Given the description of an element on the screen output the (x, y) to click on. 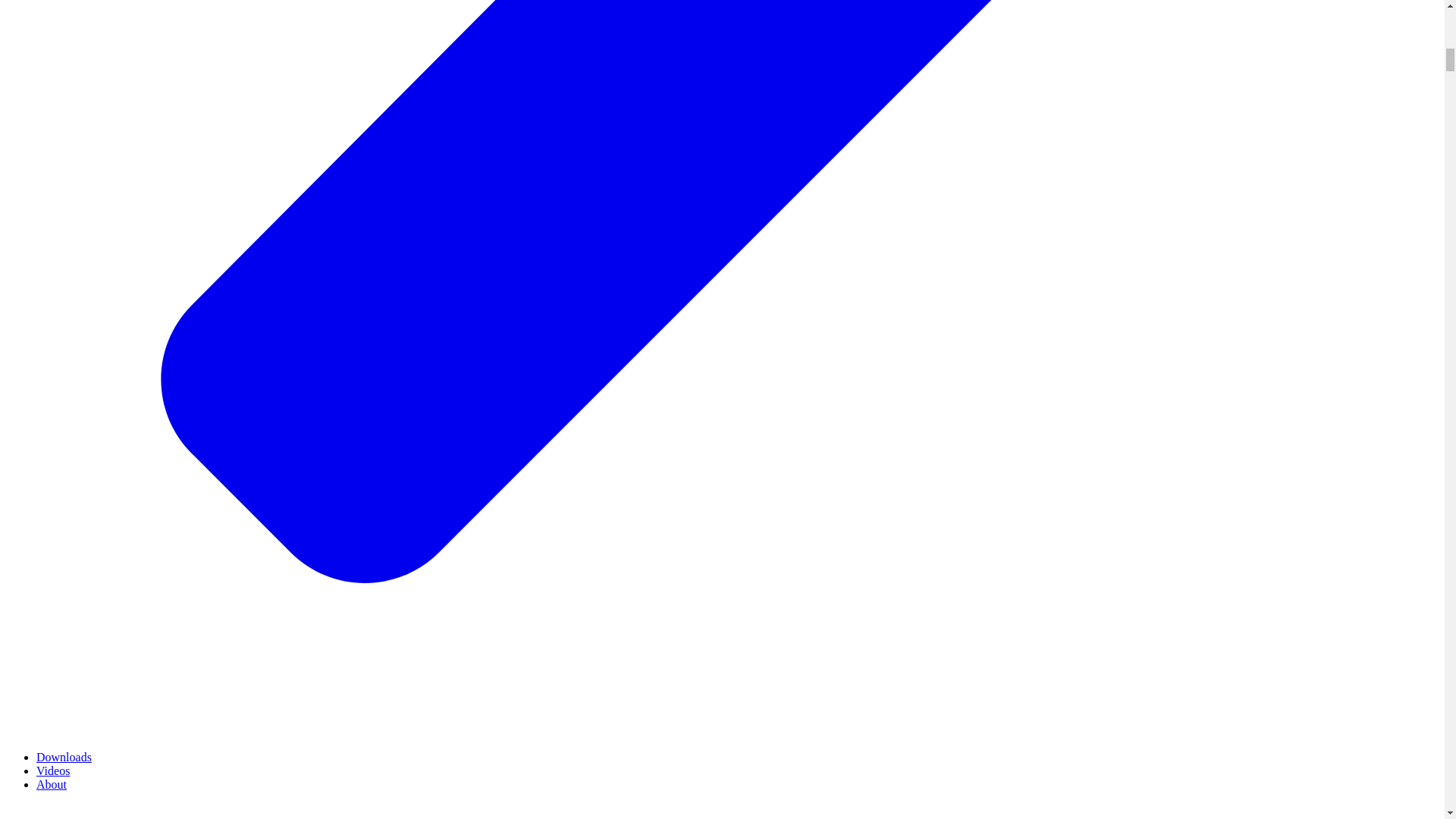
Downloads (63, 757)
Videos (52, 770)
